Given the description of an element on the screen output the (x, y) to click on. 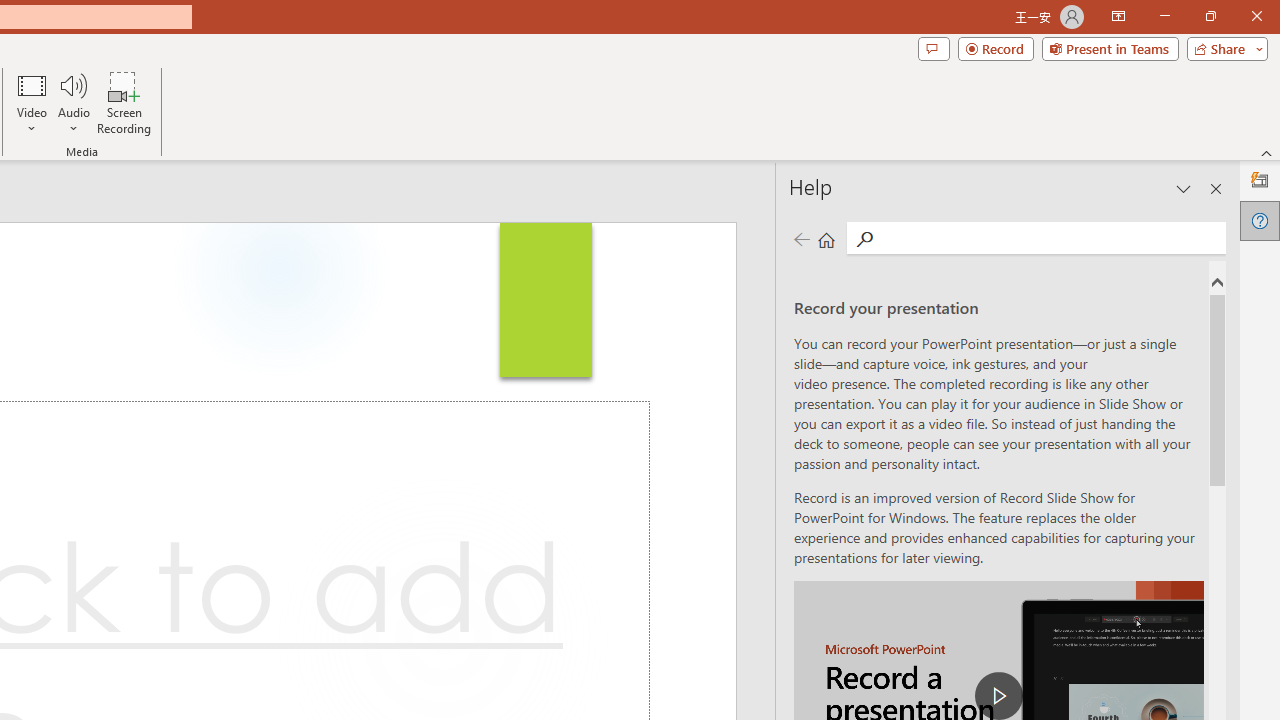
Search (1049, 237)
play Record a Presentation (998, 695)
